Given the description of an element on the screen output the (x, y) to click on. 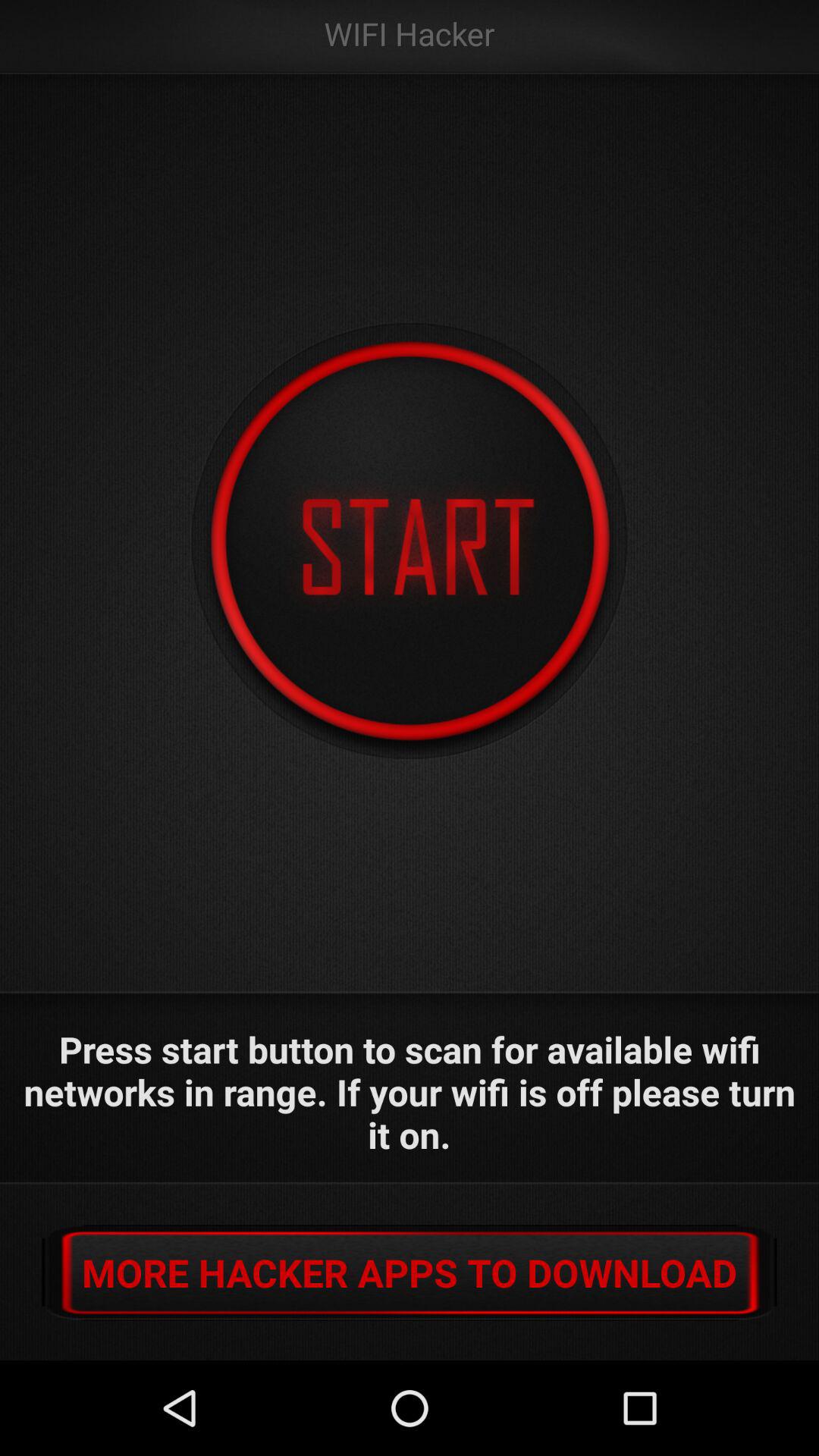
choose the icon above press start button item (409, 541)
